Given the description of an element on the screen output the (x, y) to click on. 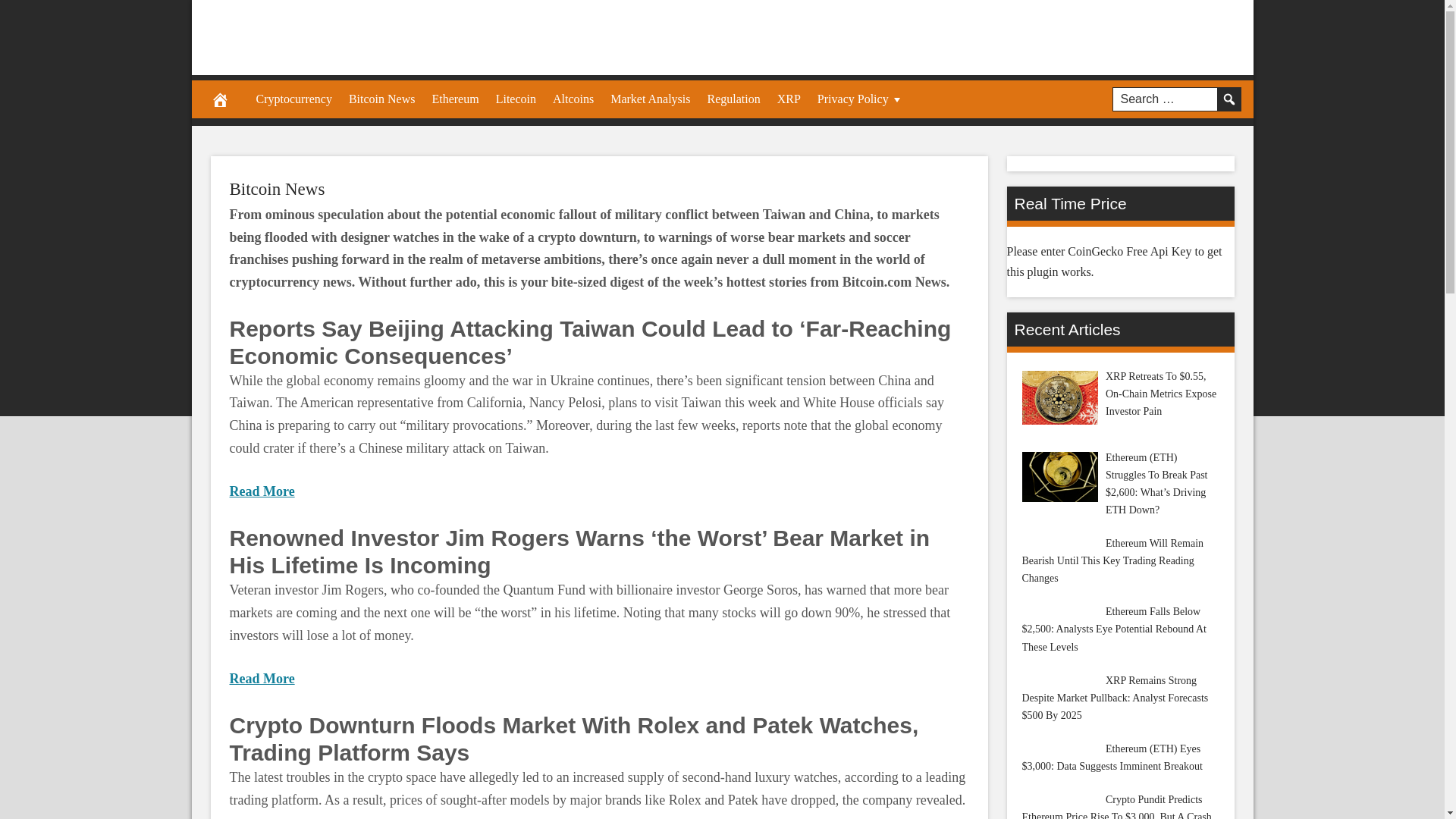
Bitcoin News (276, 189)
Read More (261, 491)
Litecoin (515, 98)
Bitcoin News (276, 189)
Cryptocurrency (293, 98)
Privacy Policy (860, 98)
Market Analysis (650, 98)
Read More (261, 678)
Altcoins (573, 98)
Bitcoin News (381, 98)
